Given the description of an element on the screen output the (x, y) to click on. 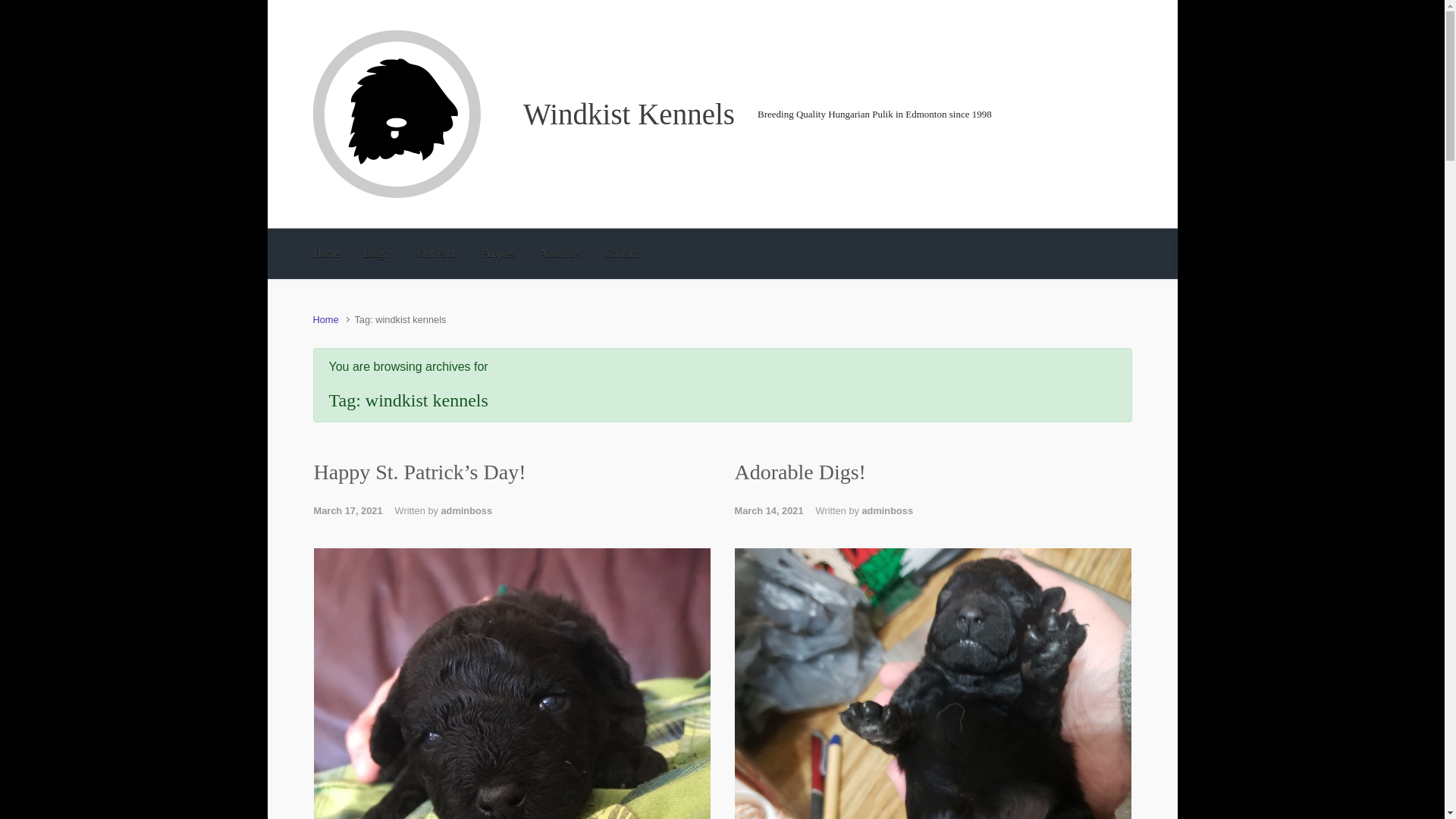
Skip to main content (17, 8)
Home (326, 253)
Contact (621, 253)
adminboss (467, 510)
Our Pack (438, 253)
About Us (559, 253)
Home (325, 319)
Puppies (498, 253)
View all posts by adminboss (886, 510)
March 17, 2021 (354, 510)
adminboss (886, 510)
Windkist Kennels (628, 113)
View all posts by adminboss (467, 510)
Adorable Digs! (798, 472)
March 14, 2021 (774, 510)
